Given the description of an element on the screen output the (x, y) to click on. 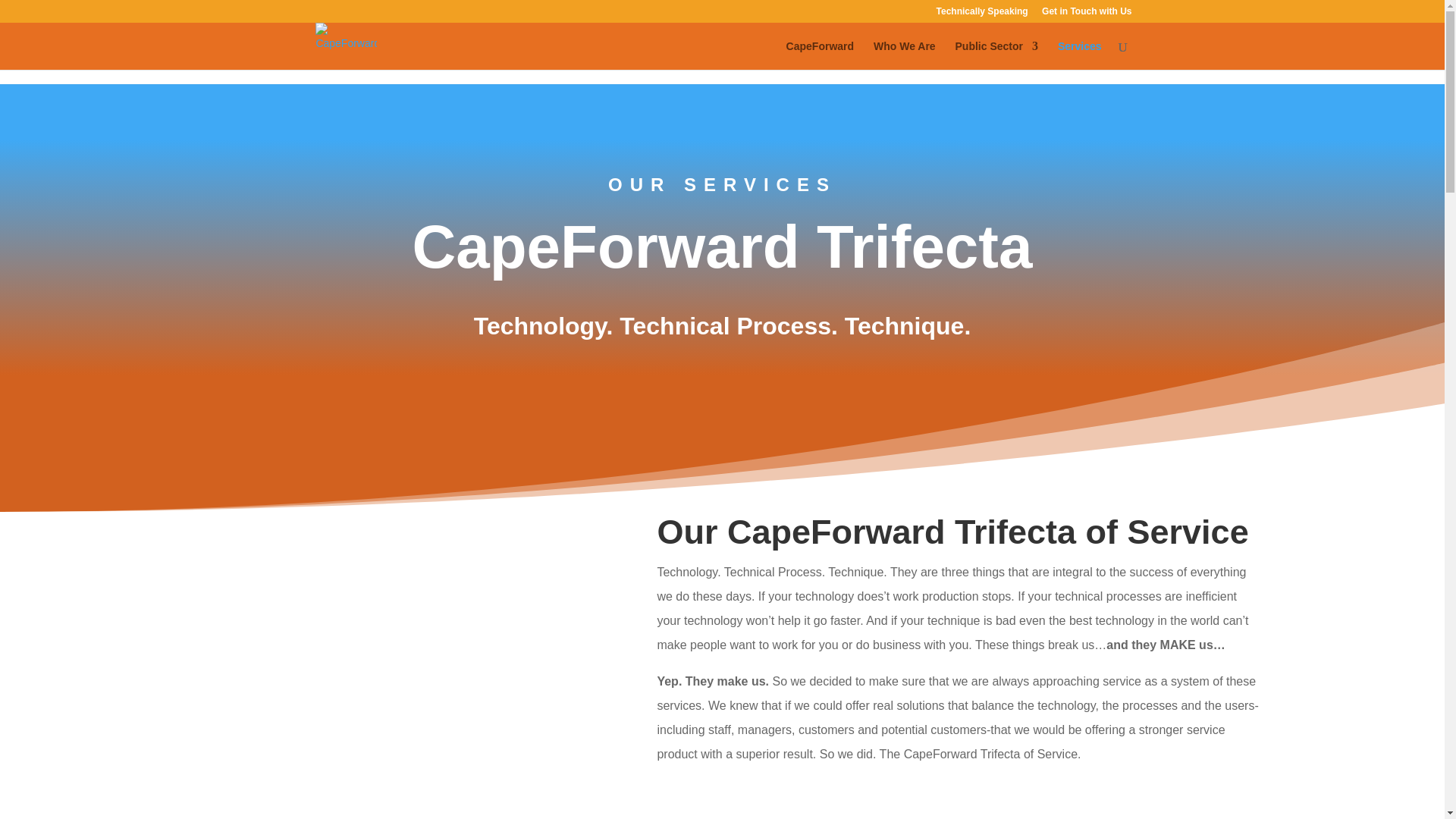
Who We Are (904, 54)
Services (1080, 54)
CapeForward (819, 54)
Technically Speaking (981, 14)
Public Sector (996, 54)
Get in Touch with Us (1086, 14)
